Given the description of an element on the screen output the (x, y) to click on. 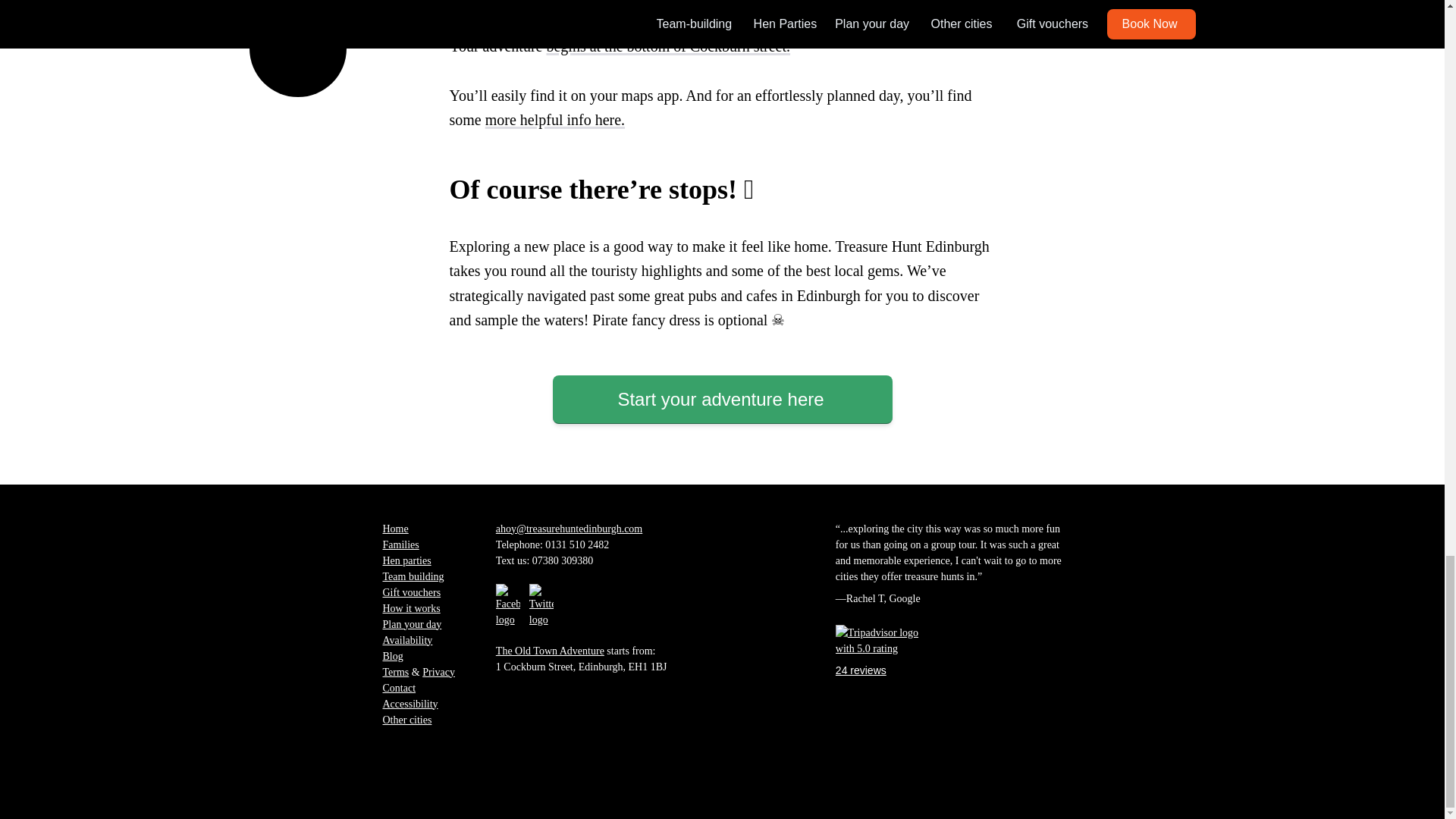
Families (400, 544)
begins at the bottom of Cockburn street. (668, 45)
How it works (410, 608)
Hen parties (405, 559)
Contact (397, 686)
Accessibility (409, 704)
Blog (392, 655)
Privacy (438, 672)
07380 309380 (563, 559)
24 reviews (876, 651)
more helpful info here. (554, 119)
Start your adventure here (721, 399)
Gift vouchers (411, 591)
Team building (412, 576)
Plan your day (411, 623)
